Given the description of an element on the screen output the (x, y) to click on. 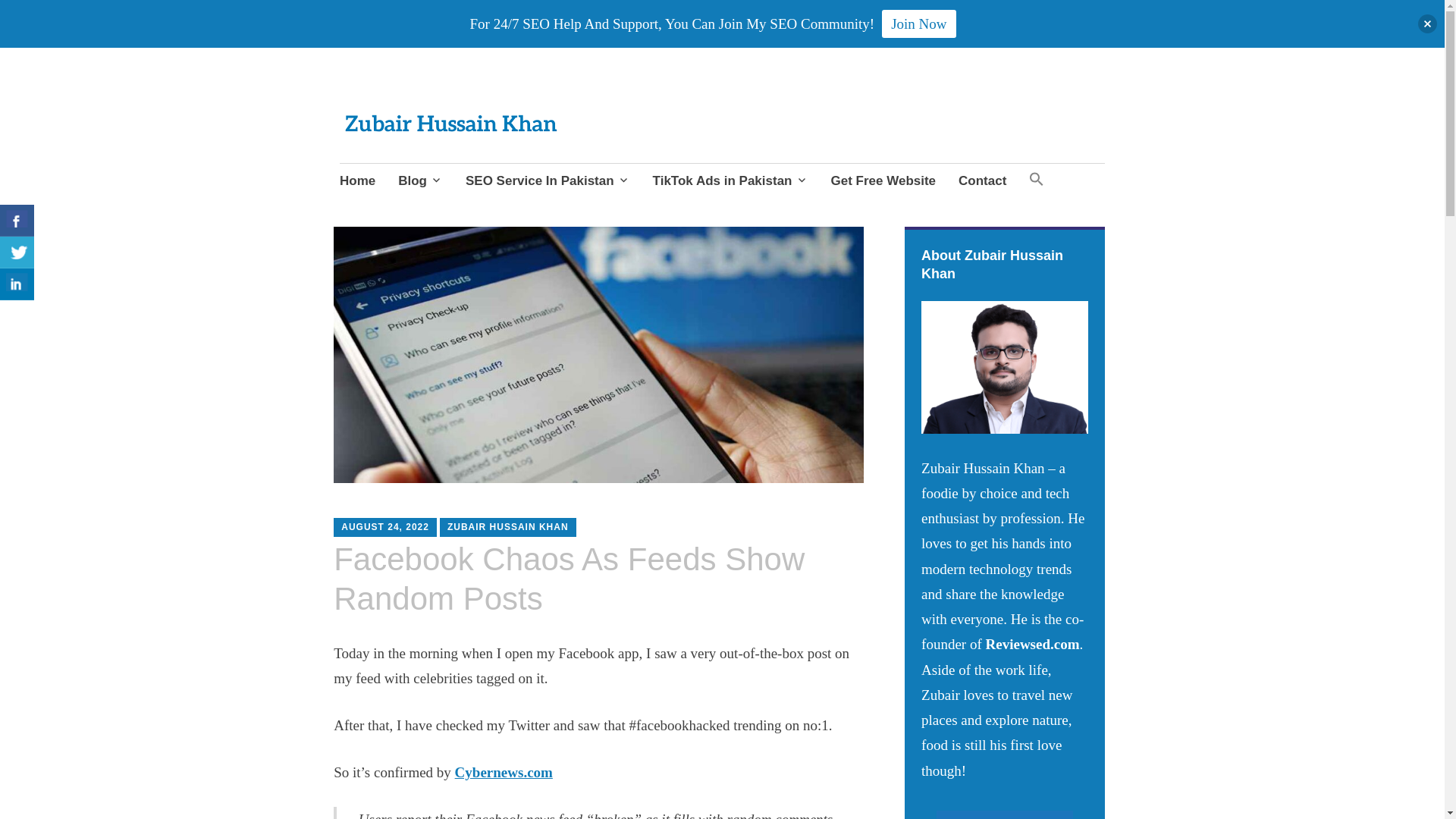
ZUBAIR HUSSAIN KHAN (507, 526)
Get Free Website (883, 181)
Home (357, 181)
TikTok Ads in Pakistan (730, 181)
Blog (419, 181)
SEO Service In Pakistan (547, 181)
Contact (982, 181)
AUGUST 24, 2022 (384, 526)
Cybernews.com (503, 772)
Zubair Hussain Khan (456, 137)
Share On Linkedin (16, 284)
Share On Facebook (16, 220)
Share On Twitter (16, 252)
